Given the description of an element on the screen output the (x, y) to click on. 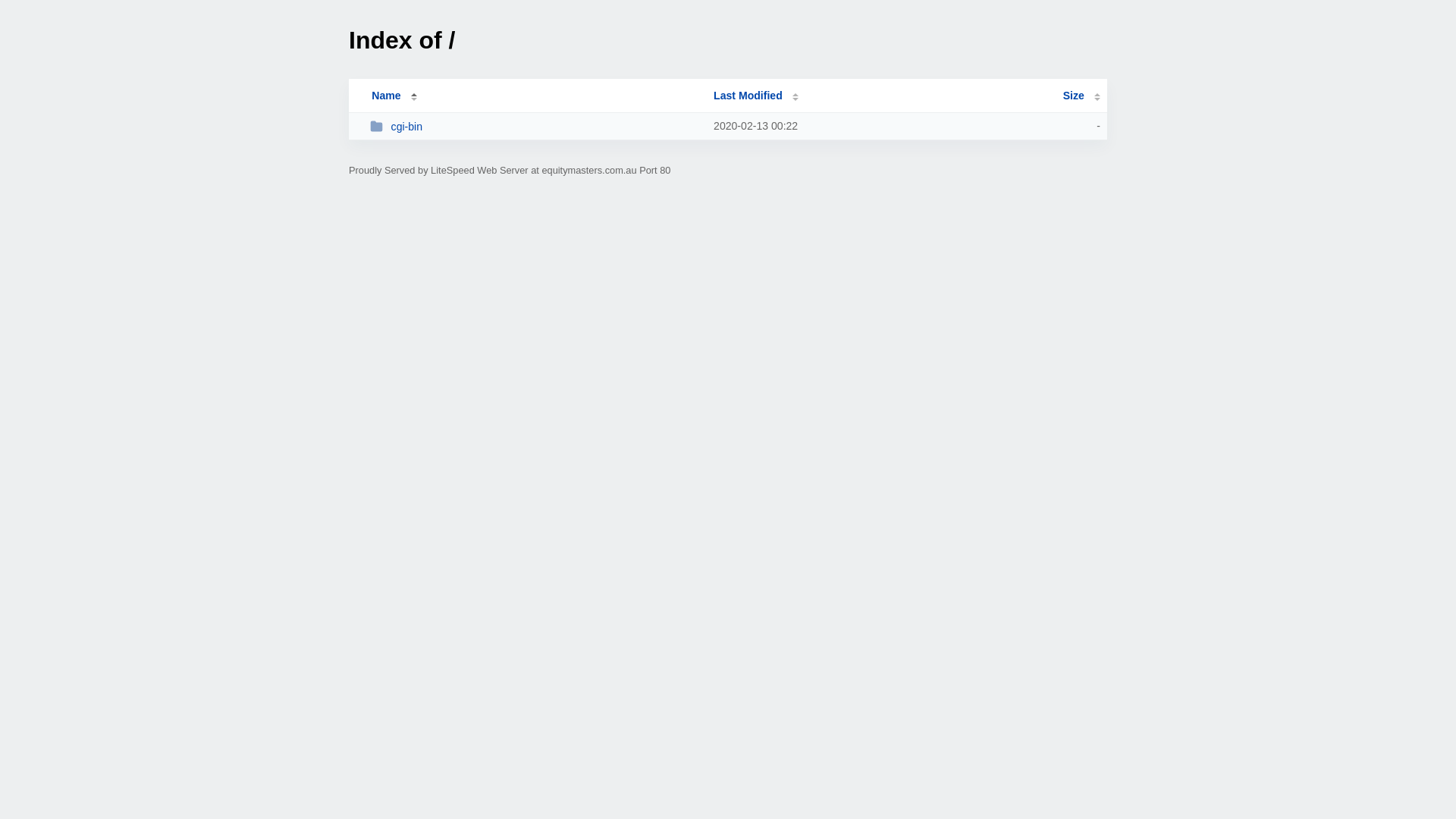
Size Element type: text (1081, 95)
Name Element type: text (385, 95)
cgi-bin Element type: text (534, 125)
Last Modified Element type: text (755, 95)
